Given the description of an element on the screen output the (x, y) to click on. 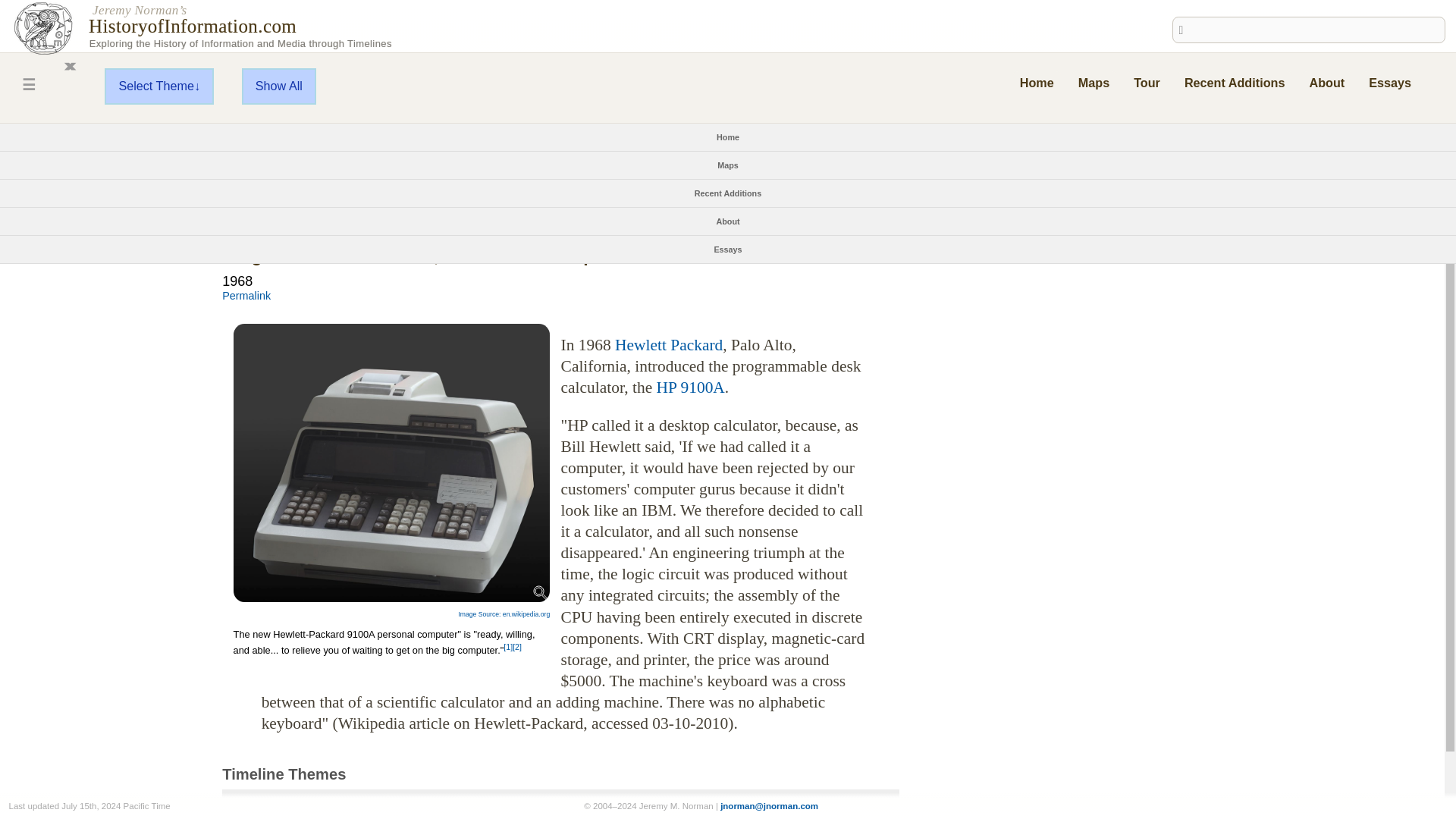
HP9100A programmable calculator (391, 462)
Maps (1093, 82)
Image Source: en.wikipedia.org (504, 614)
HP 9100A (690, 387)
Select Theme (159, 85)
About (727, 221)
Show All (278, 85)
Home (1037, 82)
Permalink (246, 295)
Essays (727, 248)
Maps (727, 164)
A: Palo Alto, California, United States (318, 196)
Essays (1389, 82)
About (1326, 82)
Hewlett Packard (668, 344)
